Given the description of an element on the screen output the (x, y) to click on. 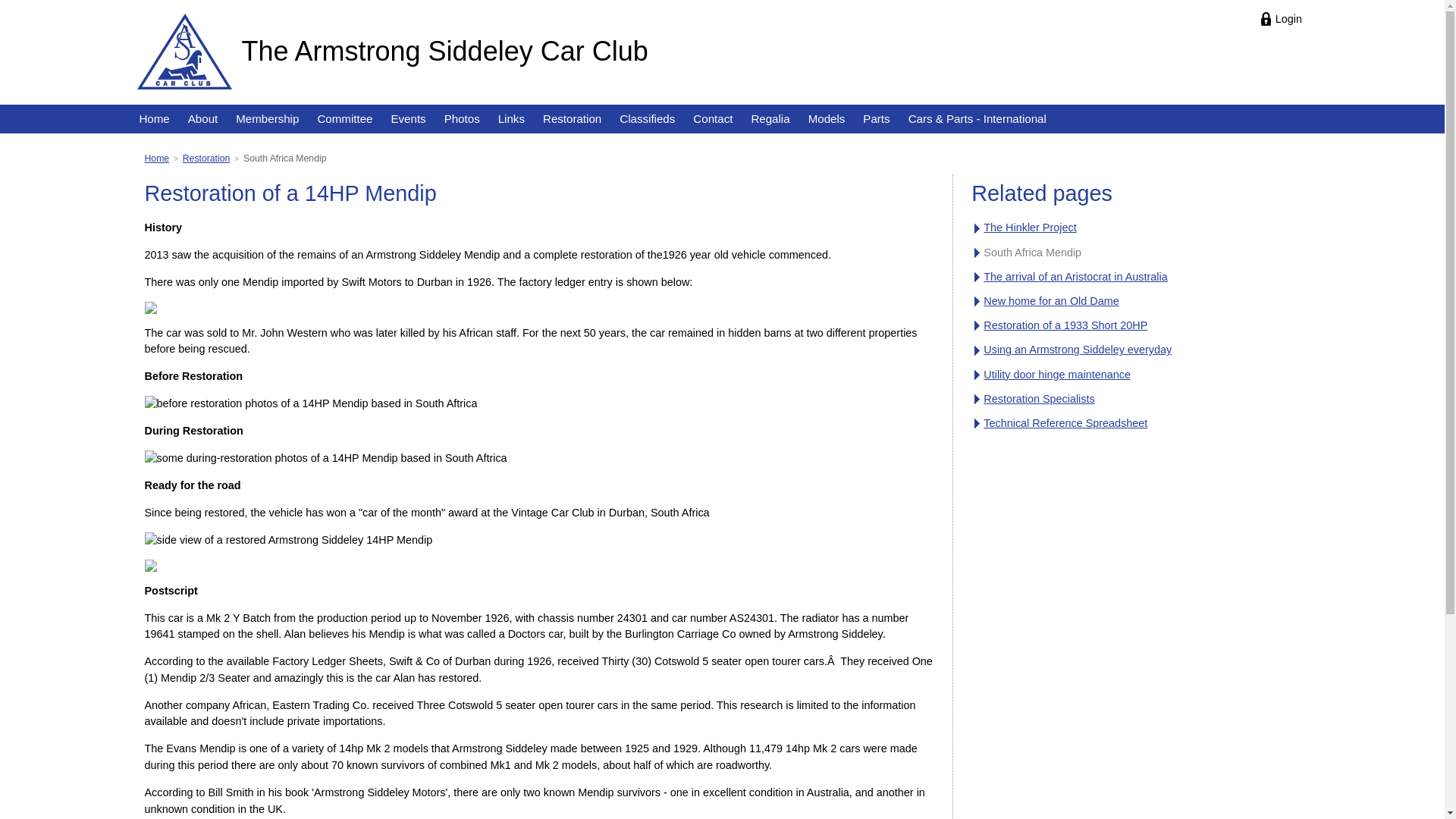
Arrow head Element type: hover (978, 399)
Photos Element type: text (462, 118)
Utility door hinge maintenance Element type: text (1056, 374)
Home Element type: text (156, 158)
Arrow head Element type: hover (978, 228)
Arrow head Element type: hover (978, 423)
Links Element type: text (511, 118)
The Armstrong Siddeley Car Club logo Element type: hover (184, 51)
Committee Element type: text (344, 118)
Restoration Element type: text (571, 118)
Classifieds Element type: text (647, 118)
The Hinkler Project Element type: text (1029, 227)
side view of a restored Armstrong Siddeley 14HP 
  Mendip Element type: hover (288, 540)
Home page Element type: hover (184, 50)
Arrow head Element type: hover (978, 301)
Restoration Element type: text (206, 158)
Arrow head Element type: hover (978, 277)
Models Element type: text (826, 118)
Restoration Specialists Element type: text (1038, 398)
Regalia Element type: text (769, 118)
Using an Armstrong Siddeley everyday Element type: text (1077, 349)
Login Element type: text (1281, 18)
Restoration of a 1933 Short 20HP Element type: text (1065, 325)
Arrow head Element type: hover (978, 253)
Membership Element type: text (266, 118)
New home for an Old Dame Element type: text (1050, 300)
Events Element type: text (407, 118)
The arrival of an Aristocrat in Australia Element type: text (1075, 276)
About Element type: text (202, 118)
Parts Element type: text (875, 118)
Arrow head Element type: hover (978, 375)
Technical Reference Spreadsheet Element type: text (1065, 423)
Cars & Parts - International Element type: text (977, 118)
Arrow head Element type: hover (978, 325)
Contact Element type: text (712, 118)
Home Element type: text (153, 118)
Arrow head Element type: hover (978, 350)
